Given the description of an element on the screen output the (x, y) to click on. 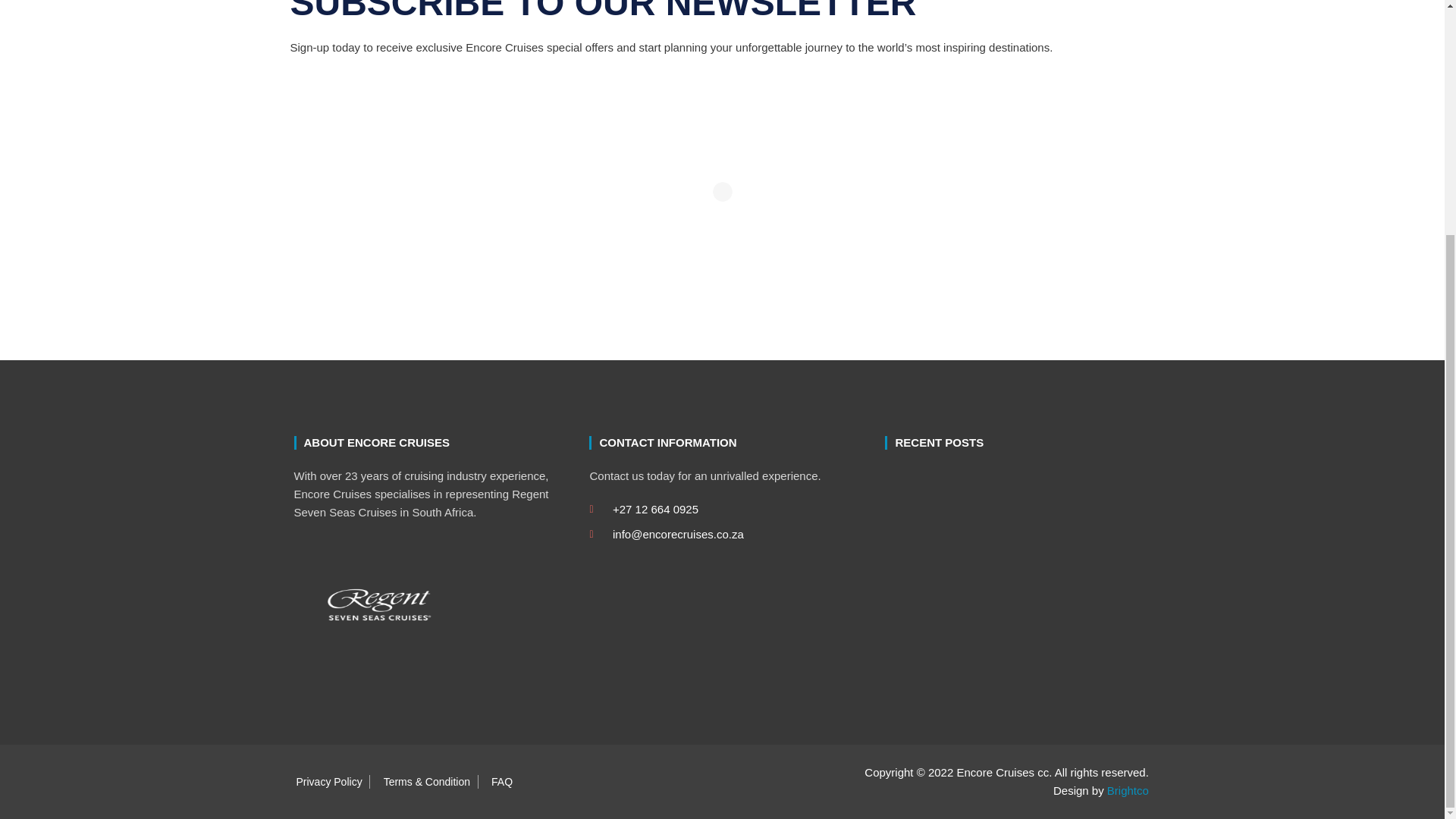
FAQ (498, 781)
Brightco (1127, 789)
Privacy Policy (325, 781)
